Given the description of an element on the screen output the (x, y) to click on. 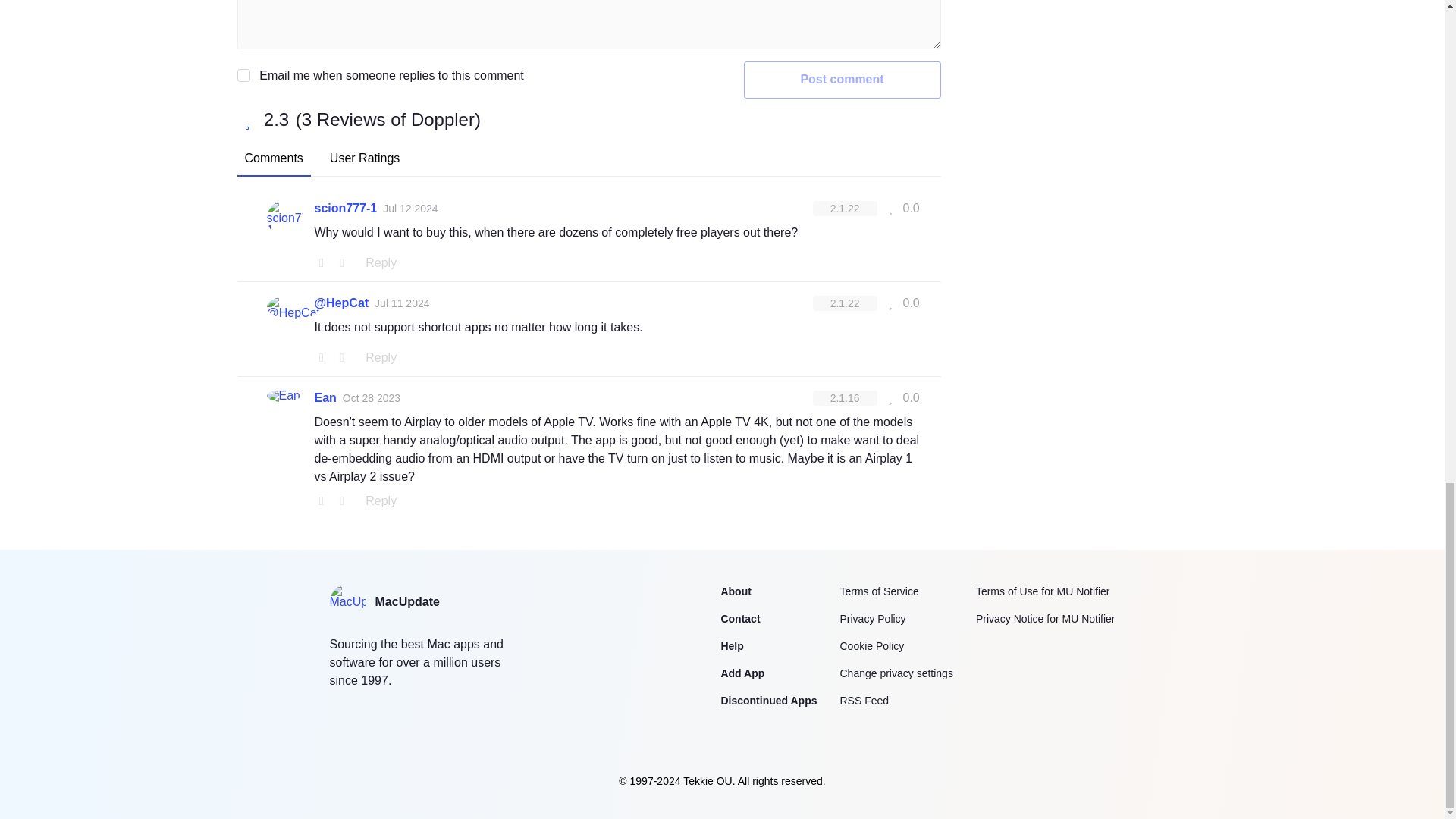
Ean (325, 398)
Version: 2.1.22 (844, 208)
scion777-1 (345, 208)
Version: 2.1.16 (844, 397)
Version: 2.1.22 (844, 303)
